Given the description of an element on the screen output the (x, y) to click on. 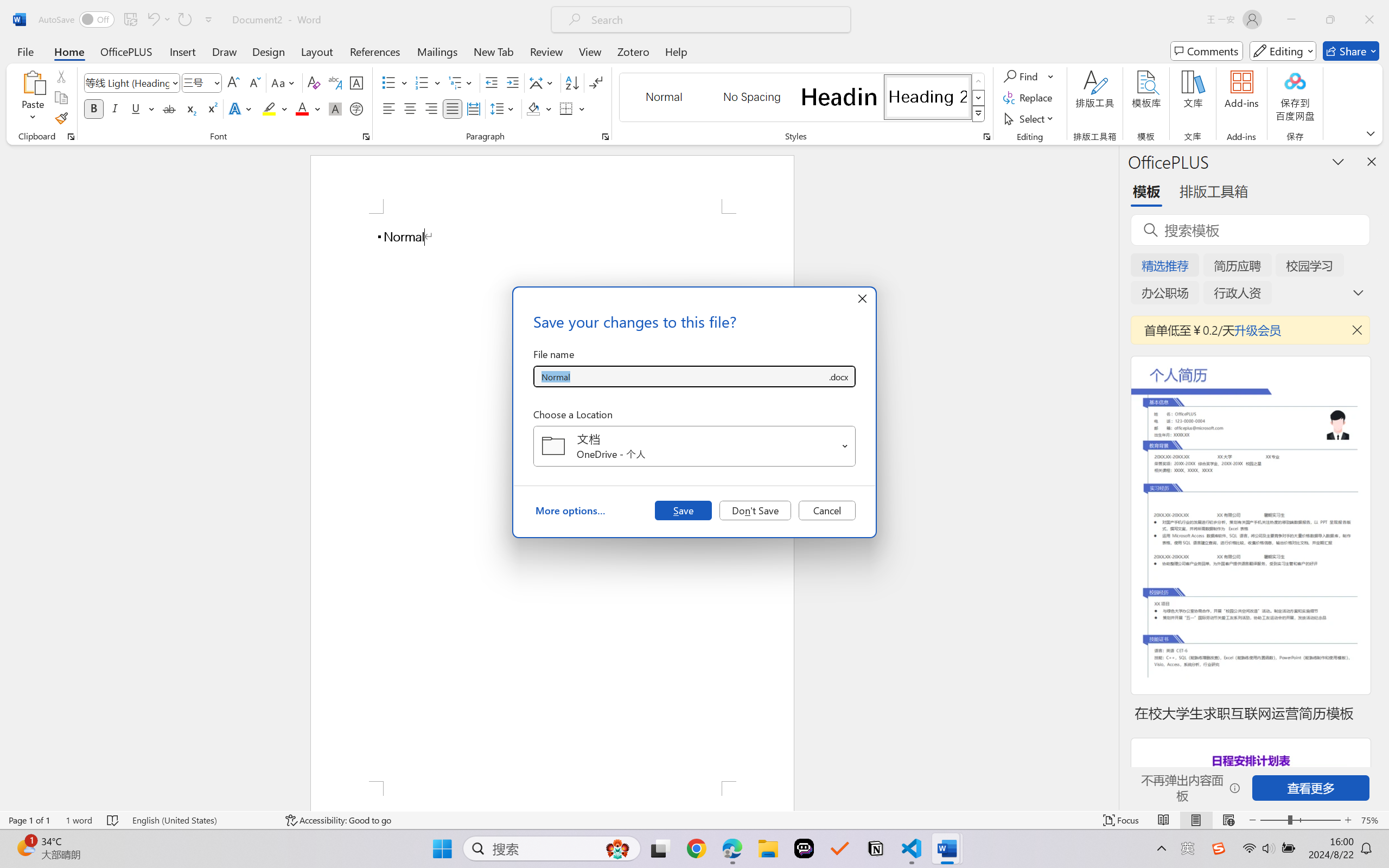
Zoom In (1348, 819)
Help (675, 51)
Minimize (1291, 19)
Align Right (431, 108)
Comments (1206, 50)
Office Clipboard... (70, 136)
Subscript (190, 108)
Open (844, 446)
Font Size (201, 82)
Close (1369, 19)
